Given the description of an element on the screen output the (x, y) to click on. 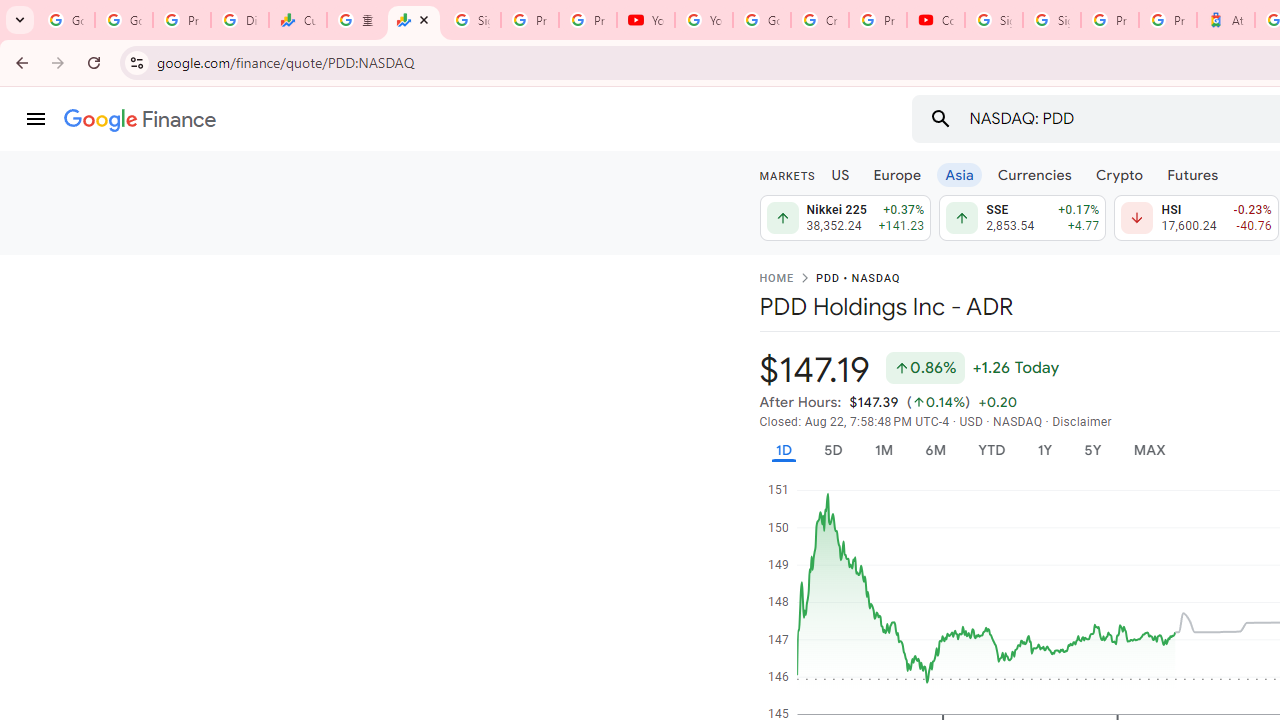
Sign in - Google Accounts (1051, 20)
Currencies - Google Finance (297, 20)
HSI 17,600.24 Down by 0.26% -40.76 (1195, 218)
Disclaimer (1082, 421)
Sign in - Google Accounts (993, 20)
US (840, 174)
YouTube (703, 20)
YouTube (645, 20)
Finance (140, 120)
Crypto (1119, 174)
